Given the description of an element on the screen output the (x, y) to click on. 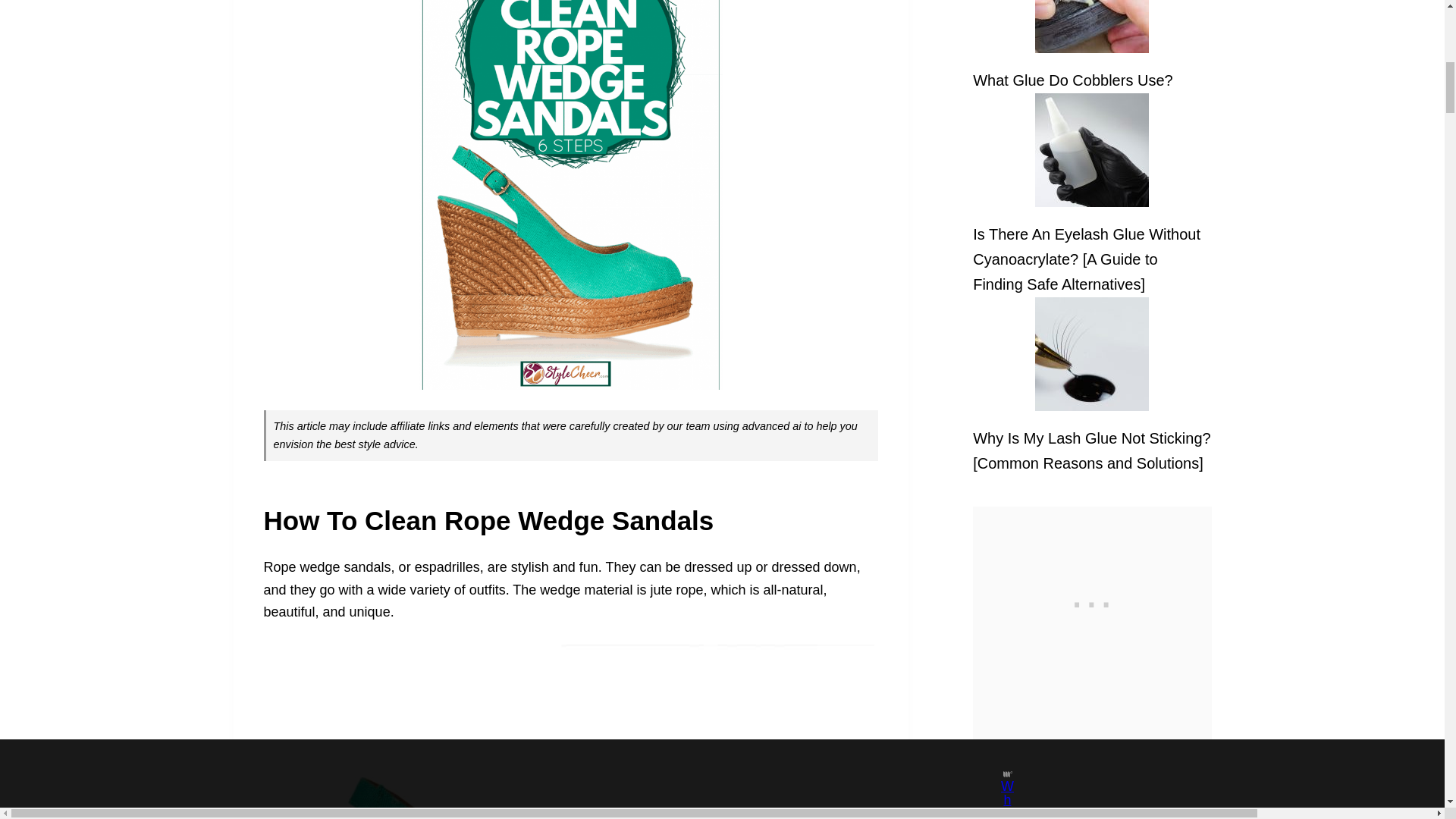
3rd party ad content (1091, 601)
